Given the description of an element on the screen output the (x, y) to click on. 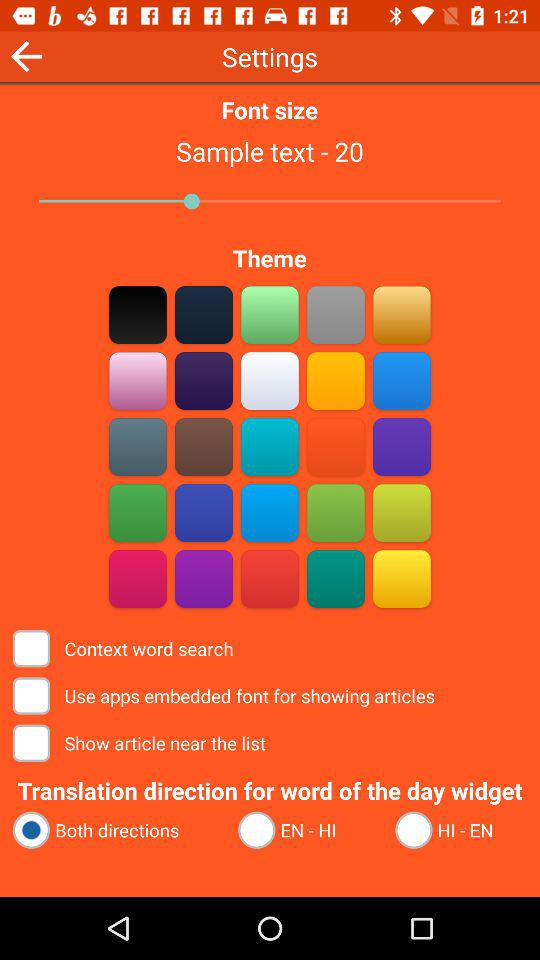
select light brown option (401, 314)
